Given the description of an element on the screen output the (x, y) to click on. 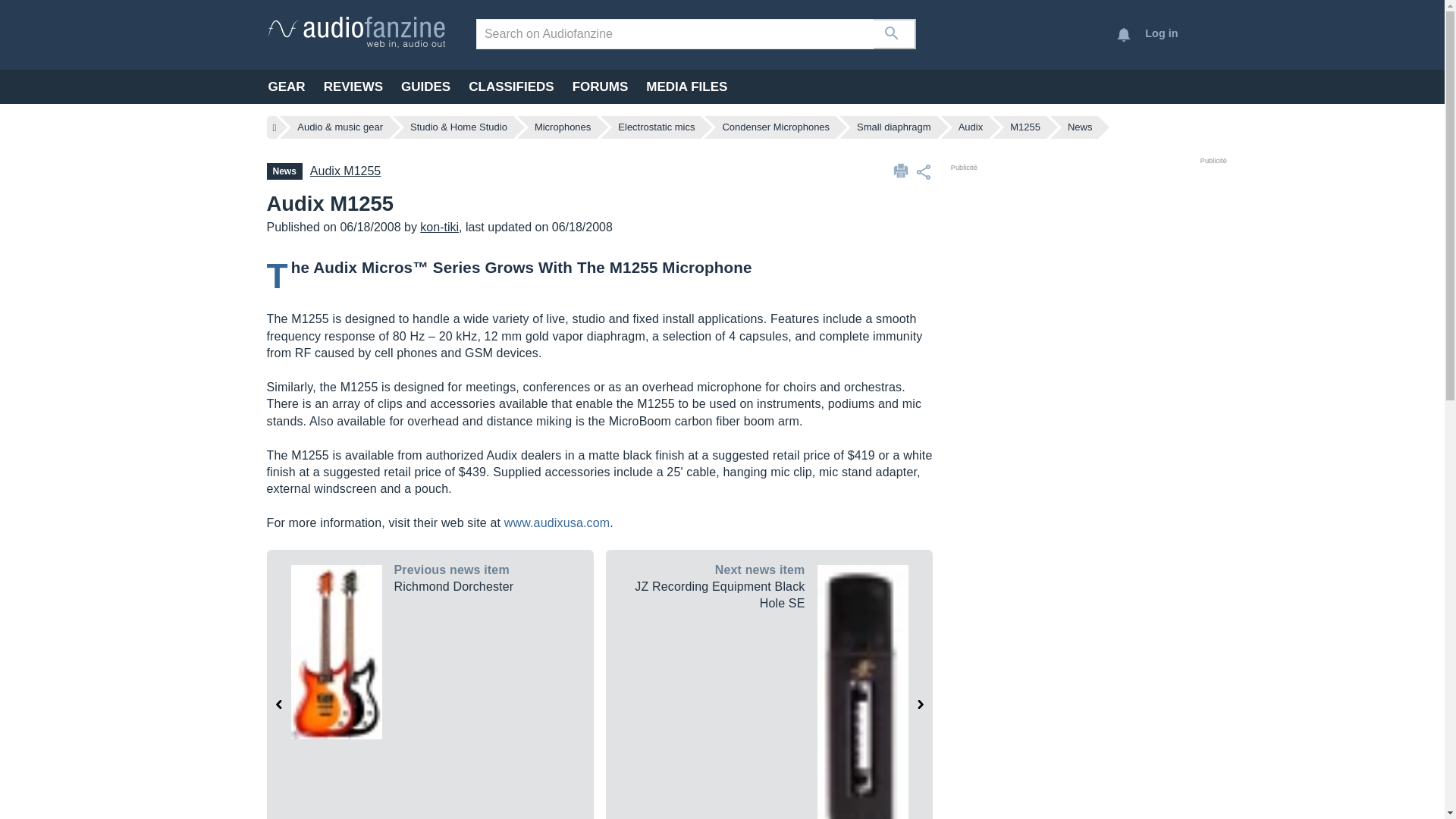
Condenser Microphones (775, 127)
Small diaphragm (894, 127)
View kon-tiki's member profile (439, 226)
Notifications (1123, 34)
M1255 (1025, 127)
Microphones (562, 127)
News (1080, 127)
CLASSIFIEDS (511, 86)
